Given the description of an element on the screen output the (x, y) to click on. 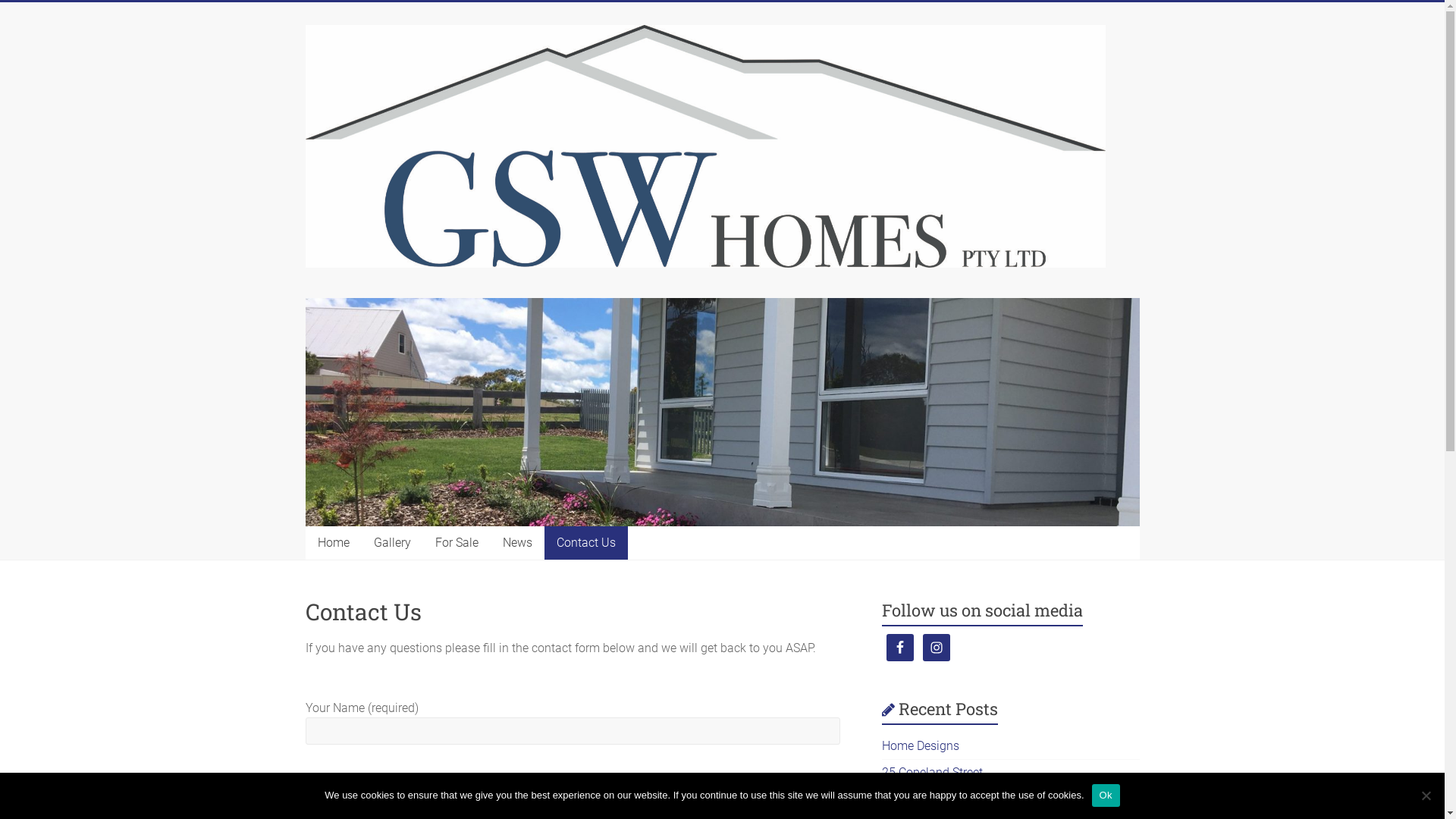
1 Green Avenue, Gunning Element type: text (948, 798)
GSW Homes Element type: text (349, 60)
Gallery Element type: text (391, 542)
News Element type: text (516, 542)
Contact Us Element type: text (585, 542)
25 Copeland Street Element type: text (931, 772)
Home Element type: text (332, 542)
Ok Element type: text (1106, 795)
Home Designs Element type: text (920, 745)
For Sale Element type: text (456, 542)
No Element type: hover (1425, 795)
